Given the description of an element on the screen output the (x, y) to click on. 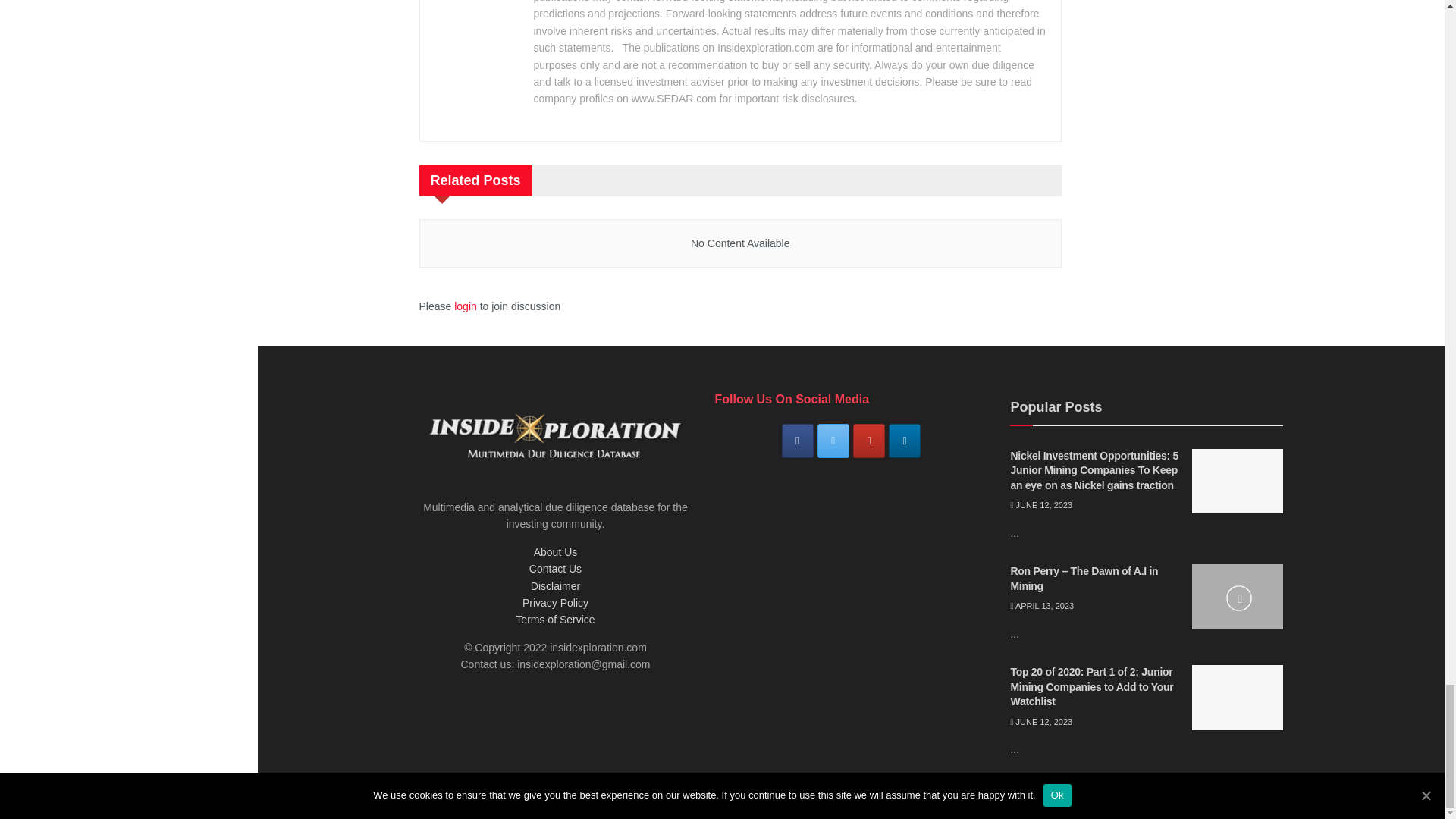
Facebook (797, 440)
LinkedIn (904, 440)
Twitter (832, 440)
Youtube (869, 440)
